Given the description of an element on the screen output the (x, y) to click on. 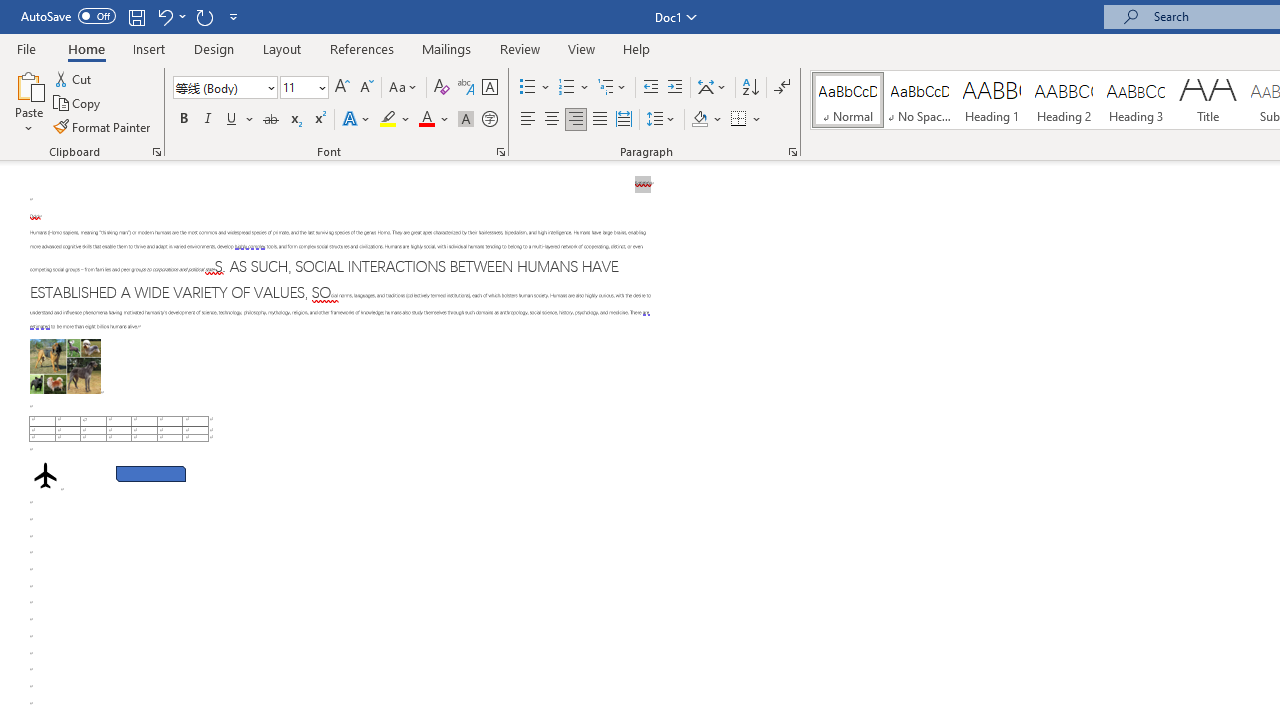
Repeat Paragraph Alignment (204, 15)
Airplane with solid fill (45, 475)
